Given the description of an element on the screen output the (x, y) to click on. 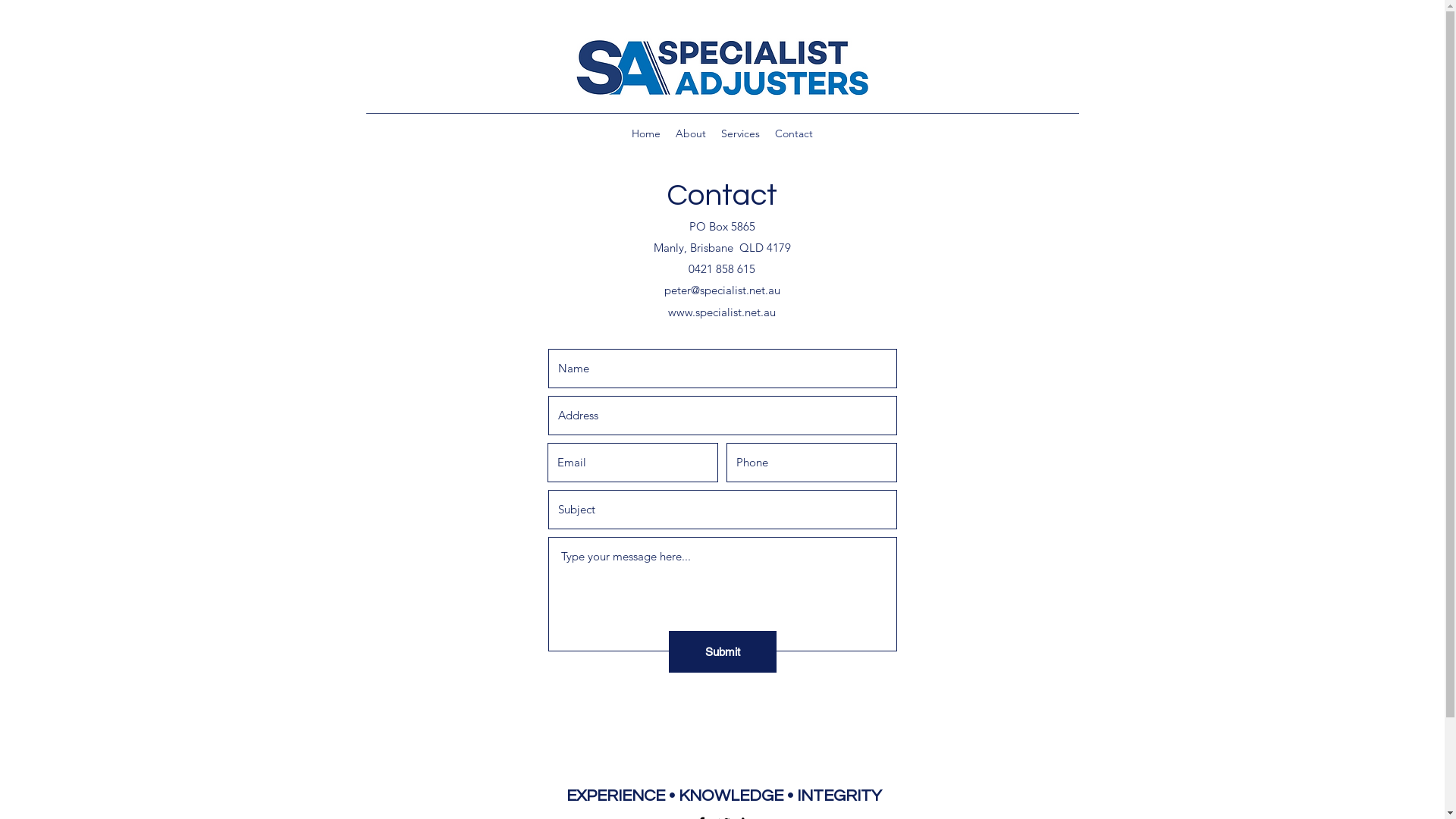
About Element type: text (690, 133)
Contact Element type: text (793, 133)
www.specialist.net.au Element type: text (721, 311)
Services Element type: text (740, 133)
Submit Element type: text (722, 651)
Home Element type: text (646, 133)
peter@specialist.net.au Element type: text (722, 289)
